Given the description of an element on the screen output the (x, y) to click on. 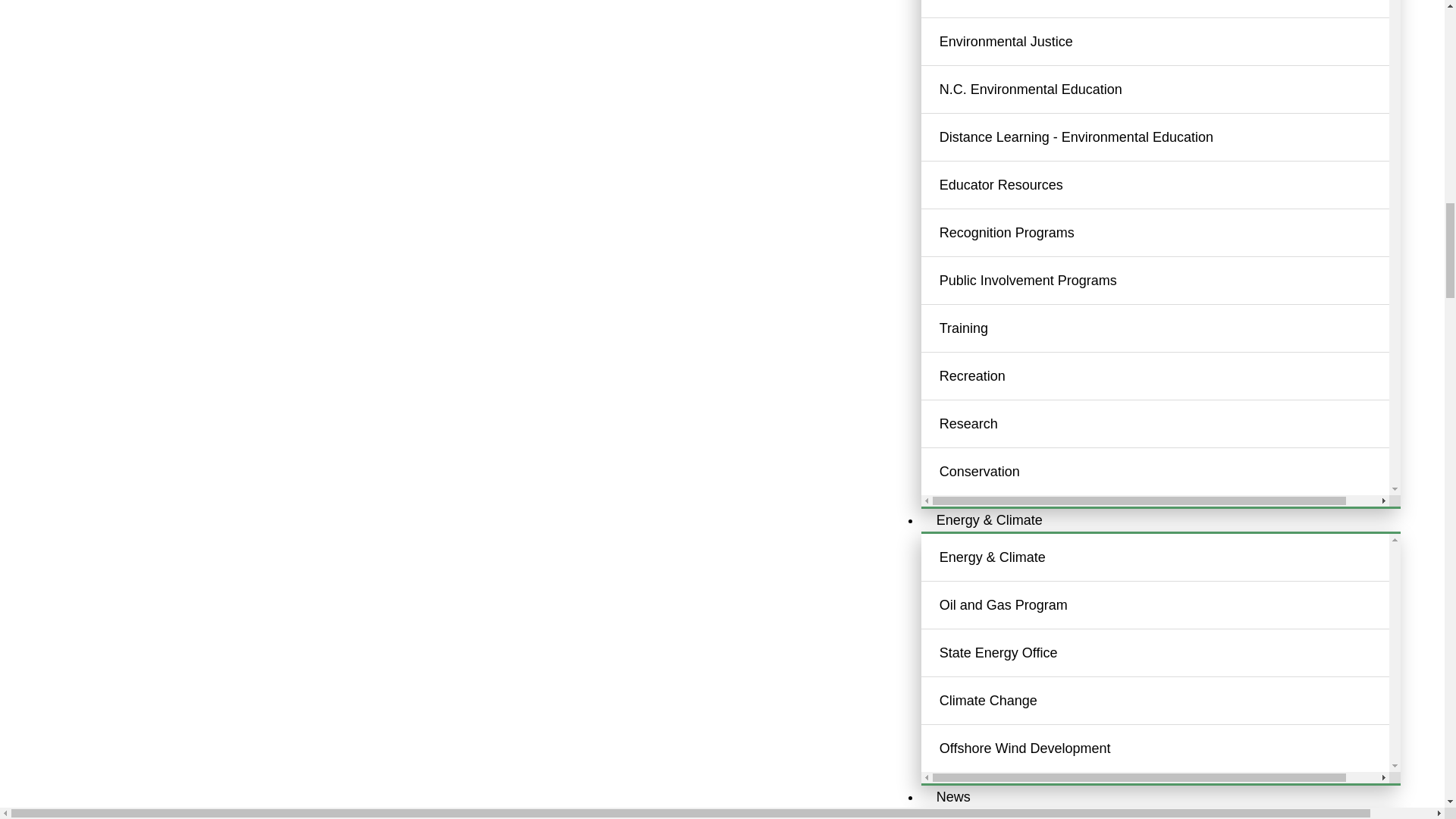
N.C. Environmental Education (1173, 89)
Environmental Justice (1173, 41)
